Given the description of an element on the screen output the (x, y) to click on. 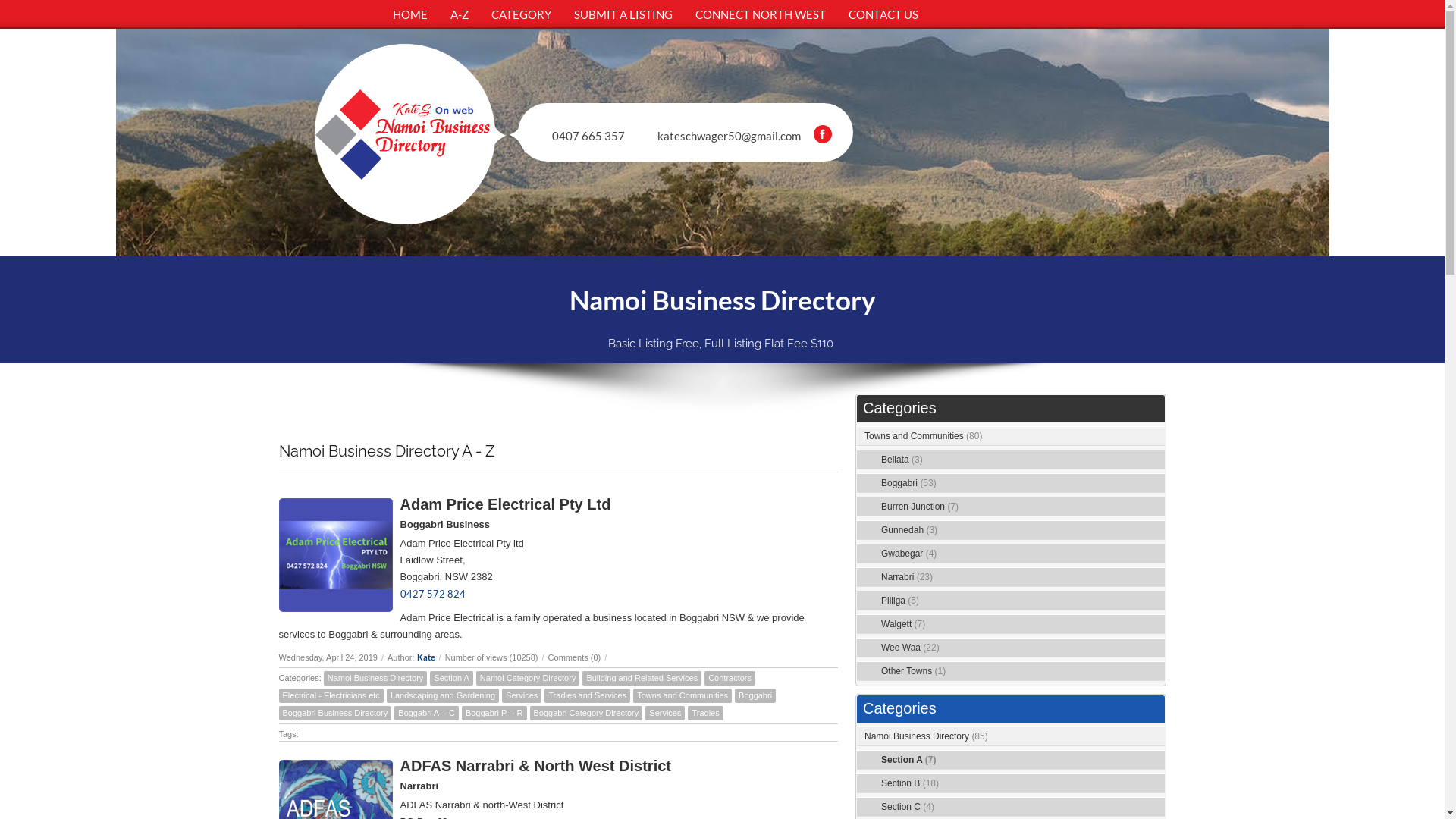
Gunnedah (3) Element type: text (909, 529)
Services Element type: text (521, 695)
Walgett (7) Element type: text (903, 623)
Narrabri (23) Element type: text (906, 576)
Towns and Communities Element type: text (682, 695)
Section C (4) Element type: text (907, 806)
Namoi Business Directory (85) Element type: text (926, 736)
Kate Element type: text (426, 657)
Section B (18) Element type: text (909, 783)
Boggabri Element type: text (754, 695)
RSS Element type: text (1155, 483)
RSS Element type: text (1155, 577)
Namoi Business Directory Element type: text (375, 678)
Wee Waa (22) Element type: text (910, 647)
Pilliga (5) Element type: text (900, 600)
RSS Element type: text (1155, 436)
Bellata (3) Element type: text (901, 459)
Boggabri A -- C Element type: text (426, 713)
ADFAS Narrabri & North West District Element type: text (535, 765)
RSS Element type: text (1155, 671)
kateschwager50@gmail.com Element type: text (728, 135)
Boggabri Business Directory Element type: text (335, 713)
RSS Element type: text (1155, 783)
SUBMIT A LISTING Element type: text (623, 14)
RSS Element type: text (1155, 553)
RSS Element type: text (1155, 624)
Adam Price Electrical Pty Ltd Element type: text (505, 503)
Gwabegar (4) Element type: text (908, 553)
RSS Element type: text (1155, 600)
Other Towns (1) Element type: text (913, 670)
Towns and Communities (80) Element type: text (923, 435)
Building and Related Services Element type: text (641, 678)
Contractors Element type: text (729, 678)
Namoi Category Directory Element type: text (528, 678)
CONNECT NORTH WEST Element type: text (760, 14)
RSS Element type: text (1155, 506)
HOME Element type: text (409, 14)
Tradies and Services Element type: text (587, 695)
Section A (7) Element type: text (908, 759)
Boggabri (53) Element type: text (908, 482)
CATEGORY Element type: text (520, 14)
Tradies Element type: text (704, 713)
Electrical - Electricians etc Element type: text (331, 695)
Services Element type: text (664, 713)
Expand/Collapse Element type: text (1137, 737)
RSS Element type: text (1155, 530)
CONTACT US Element type: text (883, 14)
RSS Element type: text (1155, 736)
Burren Junction (7) Element type: text (919, 506)
Section A Element type: text (450, 678)
Facebook Element type: hover (822, 134)
Boggabri P -- R Element type: text (494, 713)
Boggabri Category Directory Element type: text (585, 713)
RSS Element type: text (1155, 760)
Expand/Collapse Element type: text (1137, 437)
0427 572 824 Element type: text (432, 593)
RSS Element type: text (1155, 459)
0407 665 357 Element type: text (588, 135)
Landscaping and Gardening Element type: text (442, 695)
A-Z Element type: text (458, 14)
RSS Element type: text (1155, 647)
RSS Element type: text (1155, 807)
